Given the description of an element on the screen output the (x, y) to click on. 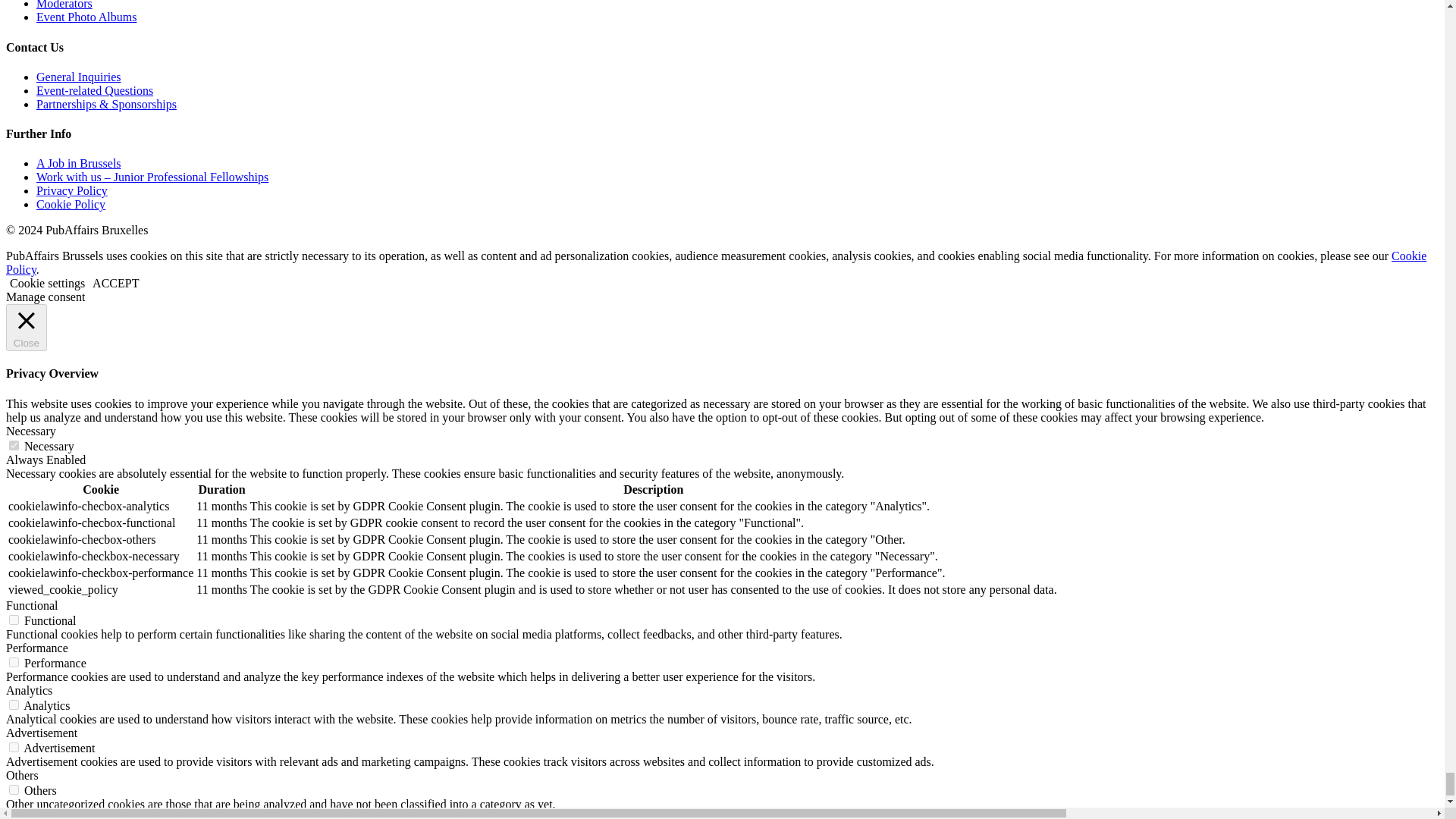
on (13, 445)
on (13, 705)
on (13, 789)
on (13, 619)
on (13, 747)
on (13, 662)
